Given the description of an element on the screen output the (x, y) to click on. 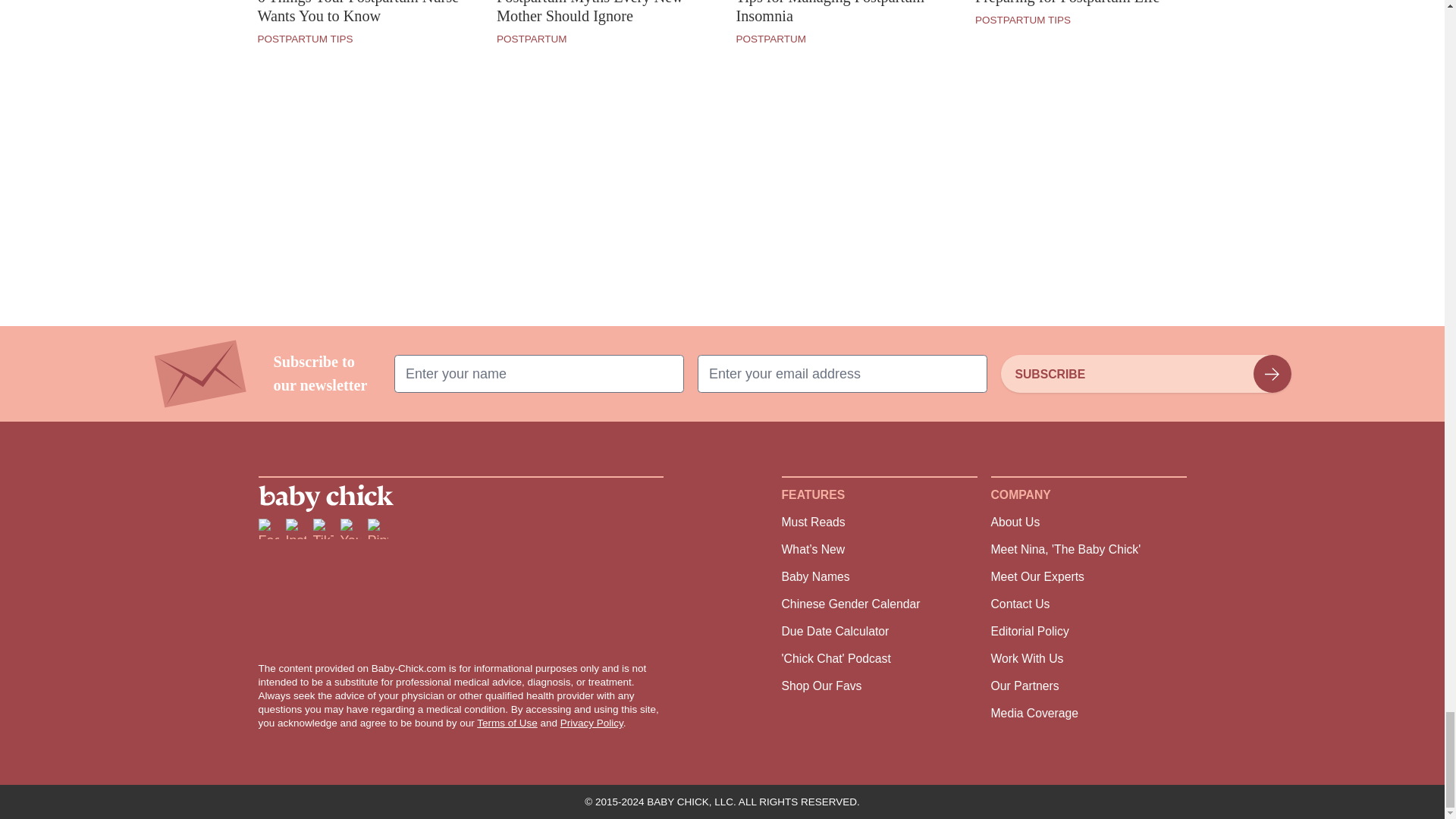
Subscribe (1145, 373)
